Given the description of an element on the screen output the (x, y) to click on. 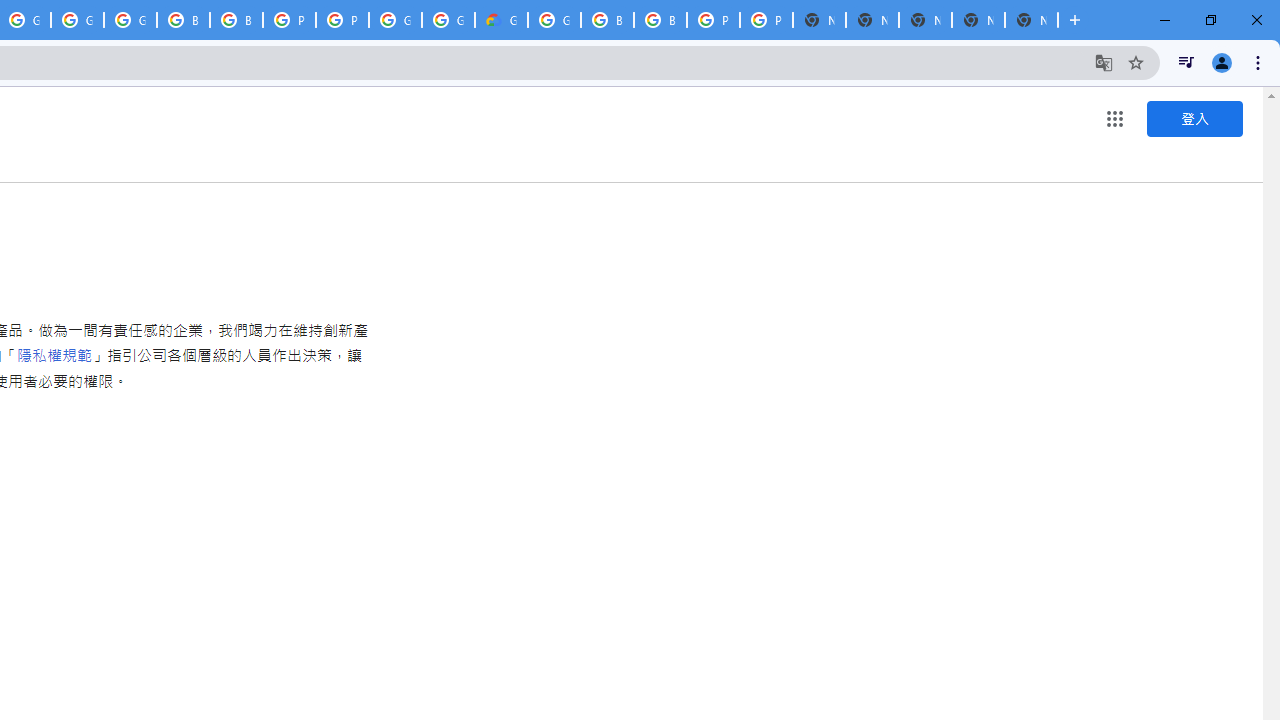
Google Cloud Estimate Summary (501, 20)
Translate this page (1103, 62)
Google Cloud Platform (554, 20)
New Tab (1031, 20)
Google Cloud Platform (448, 20)
Browse Chrome as a guest - Computer - Google Chrome Help (183, 20)
